Given the description of an element on the screen output the (x, y) to click on. 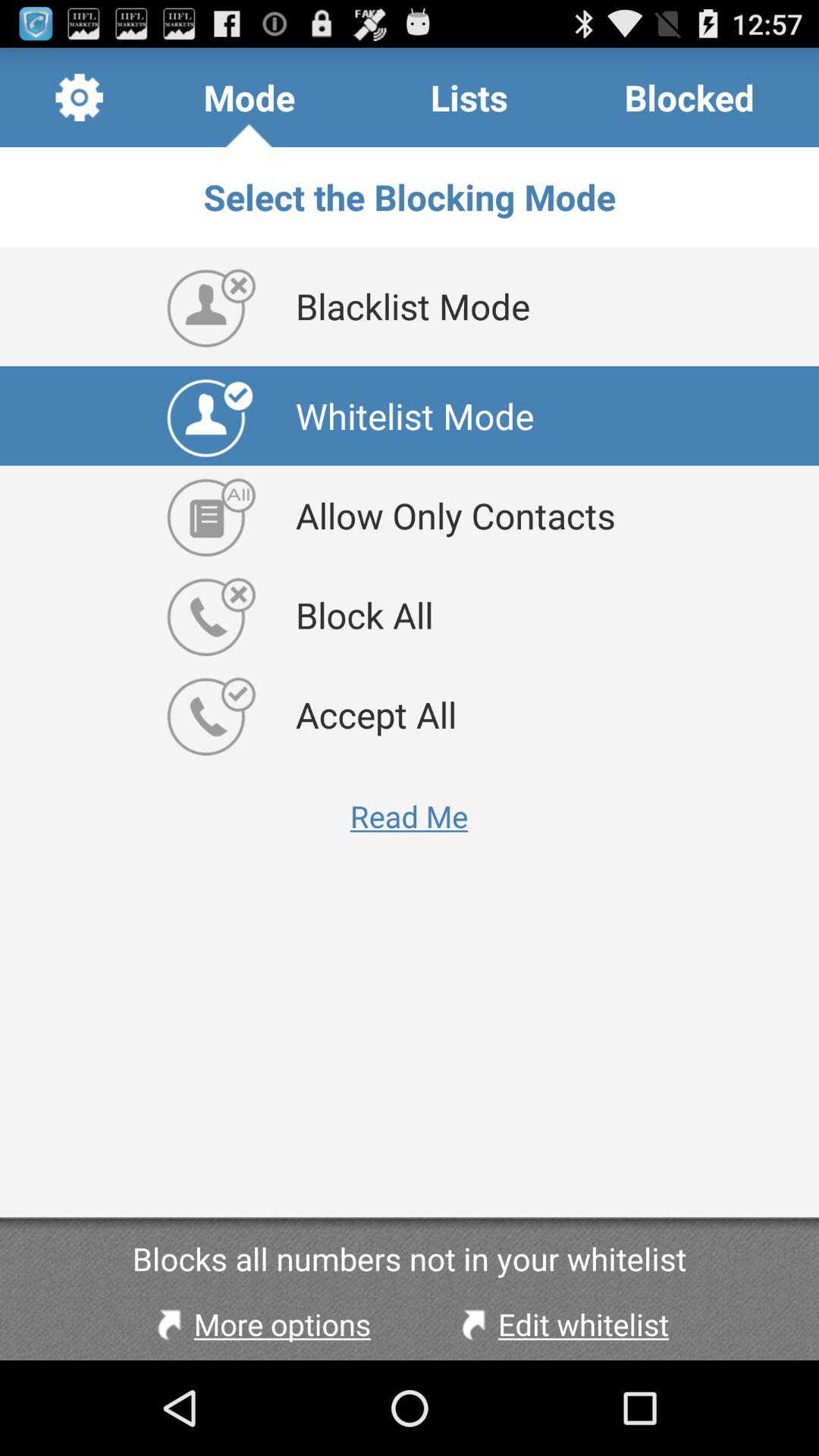
turn off more options item (260, 1324)
